Given the description of an element on the screen output the (x, y) to click on. 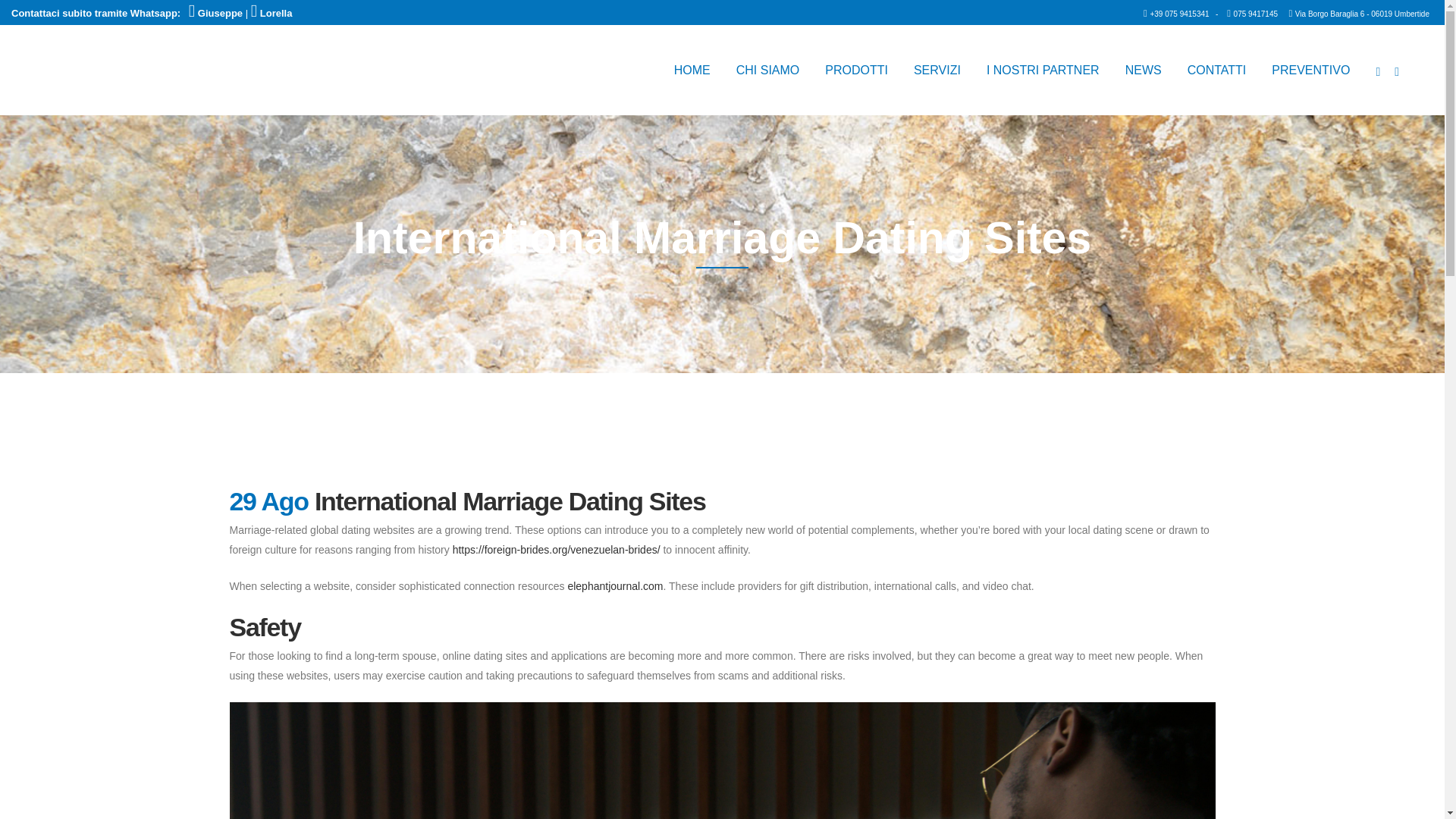
PREVENTIVO (1310, 70)
HOME (692, 70)
Giuseppe (217, 12)
SERVIZI (937, 70)
Lorella (271, 12)
NEWS (1143, 70)
CHI SIAMO (767, 70)
I NOSTRI PARTNER (1043, 70)
elephantjournal.com (614, 585)
PRODOTTI (856, 70)
